Given the description of an element on the screen output the (x, y) to click on. 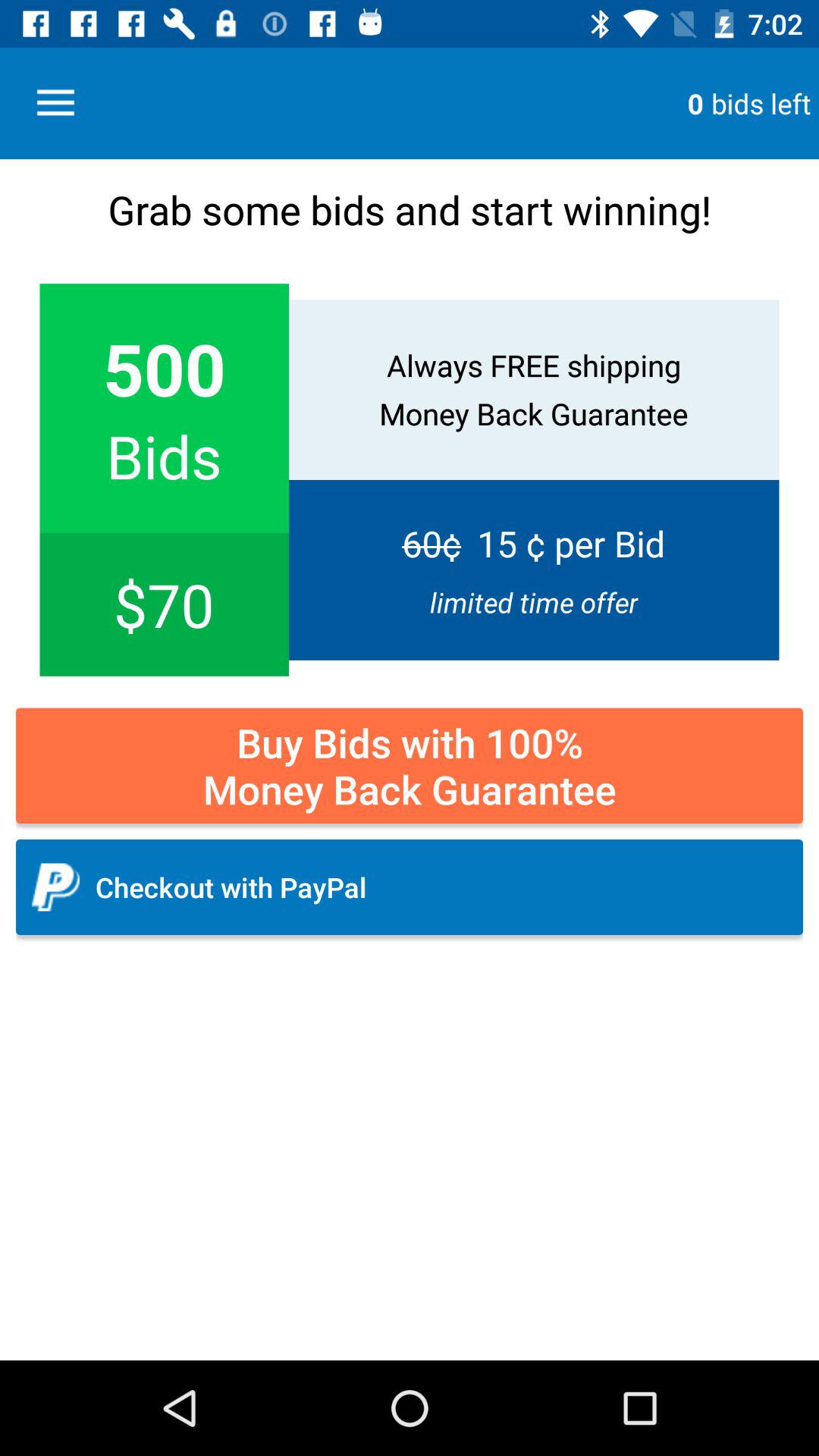
select the app next to 0 app (55, 103)
